Given the description of an element on the screen output the (x, y) to click on. 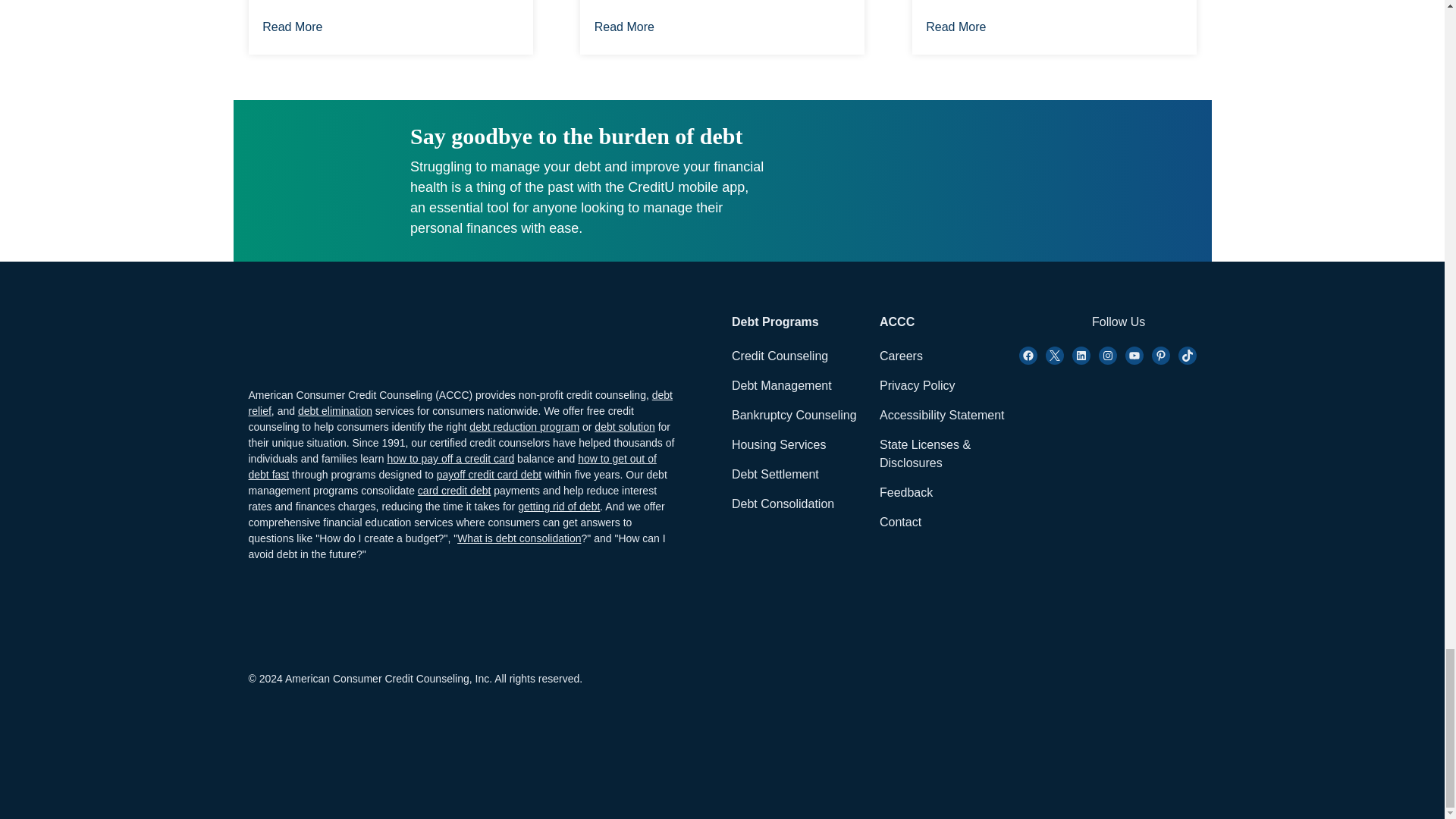
instagram (1106, 355)
instagram (1080, 355)
twitter (1053, 355)
youtube (1133, 355)
facebook (1027, 355)
tiktok (1186, 355)
pinterest (1160, 355)
